Given the description of an element on the screen output the (x, y) to click on. 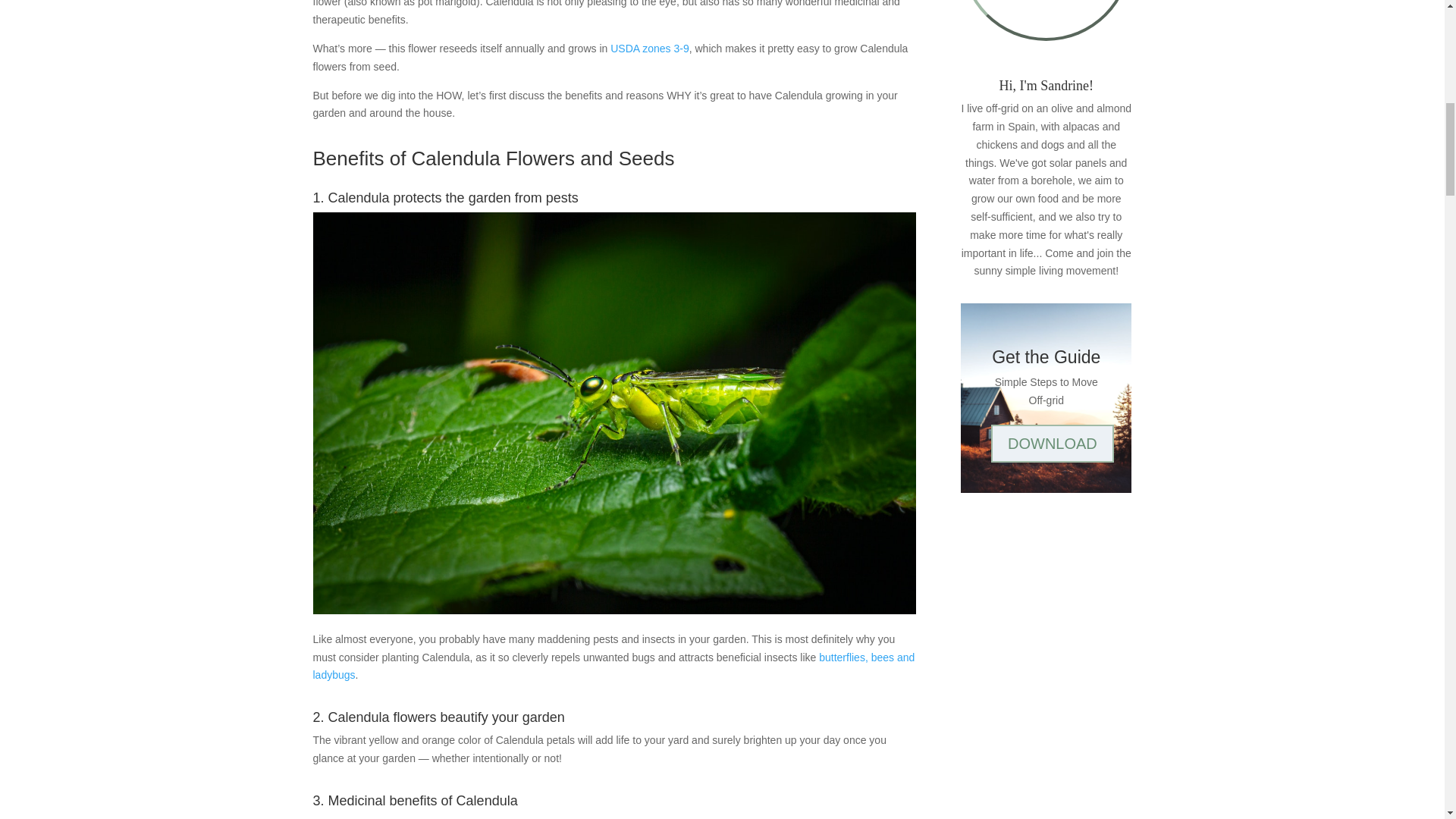
butterflies, bees and ladybugs (613, 666)
USDA zones 3-9 (649, 48)
medicinal benefits (538, 818)
